Given the description of an element on the screen output the (x, y) to click on. 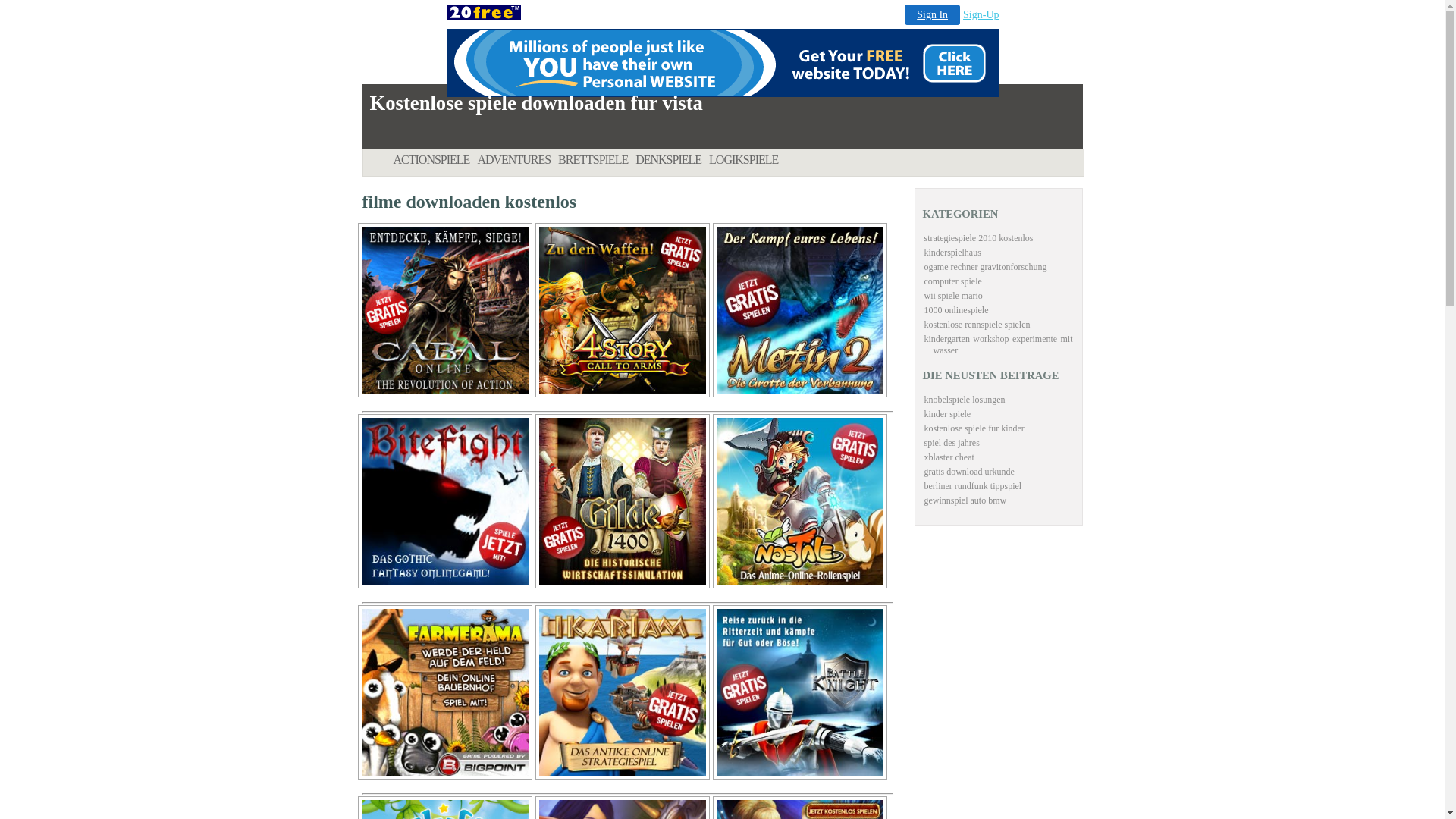
kinderspielhaus Element type: text (951, 252)
gewinnspiel auto bmw Element type: text (964, 500)
spiel des jahres Element type: text (951, 442)
strategiespiele 2010 kostenlos Element type: text (977, 237)
kostenlose spiele fur kinder Element type: text (973, 428)
xblaster cheat Element type: text (948, 456)
berliner rundfunk tippspiel Element type: text (972, 485)
kinder spiele Element type: text (946, 413)
computer spiele Element type: text (952, 281)
1000 onlinespiele Element type: text (955, 309)
knobelspiele losungen Element type: text (963, 399)
gratis download urkunde Element type: text (968, 471)
Sign-Up Element type: text (980, 14)
kostenlose rennspiele spielen Element type: text (976, 324)
BRETTSPIELE Element type: text (596, 157)
Sign In Element type: text (932, 14)
DENKSPIELE Element type: text (672, 157)
kindergarten workshop experimente mit wasser Element type: text (997, 344)
ADVENTURES Element type: text (517, 157)
wii spiele mario Element type: text (952, 295)
ogame rechner gravitonforschung Element type: text (984, 266)
LOGIKSPIELE Element type: text (747, 157)
ACTIONSPIELE Element type: text (434, 157)
